Given the description of an element on the screen output the (x, y) to click on. 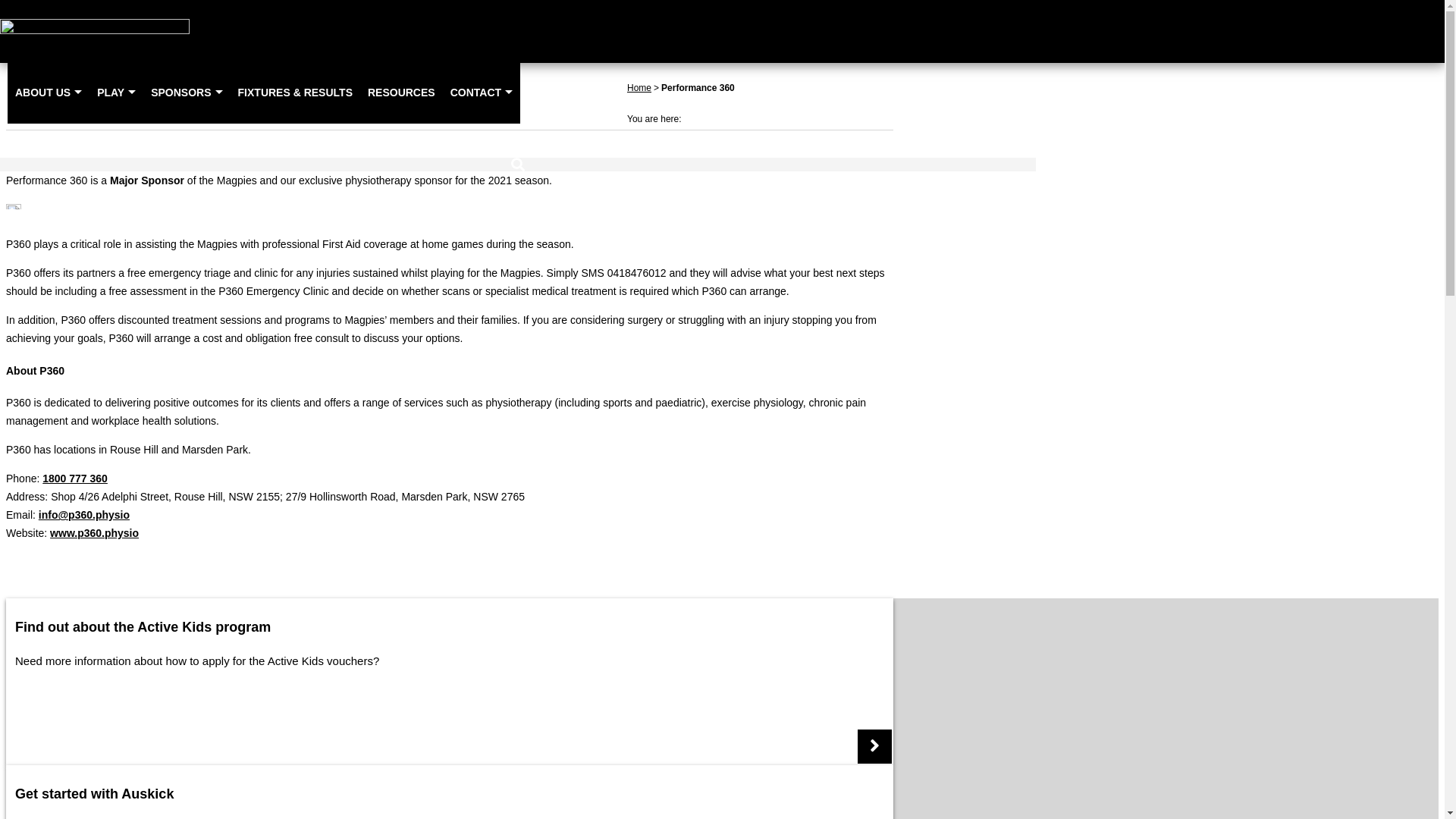
PLAY Element type: text (116, 91)
Home Element type: text (639, 86)
RESOURCES Element type: text (401, 91)
1800 777 360 Element type: text (74, 478)
Search Element type: hover (517, 164)
www.p360.physio Element type: text (94, 533)
CONTACT Element type: text (481, 91)
info@p360.physio Element type: text (83, 514)
SPONSORS Element type: text (186, 91)
ABOUT US Element type: text (48, 91)
FIXTURES & RESULTS Element type: text (295, 91)
